Given the description of an element on the screen output the (x, y) to click on. 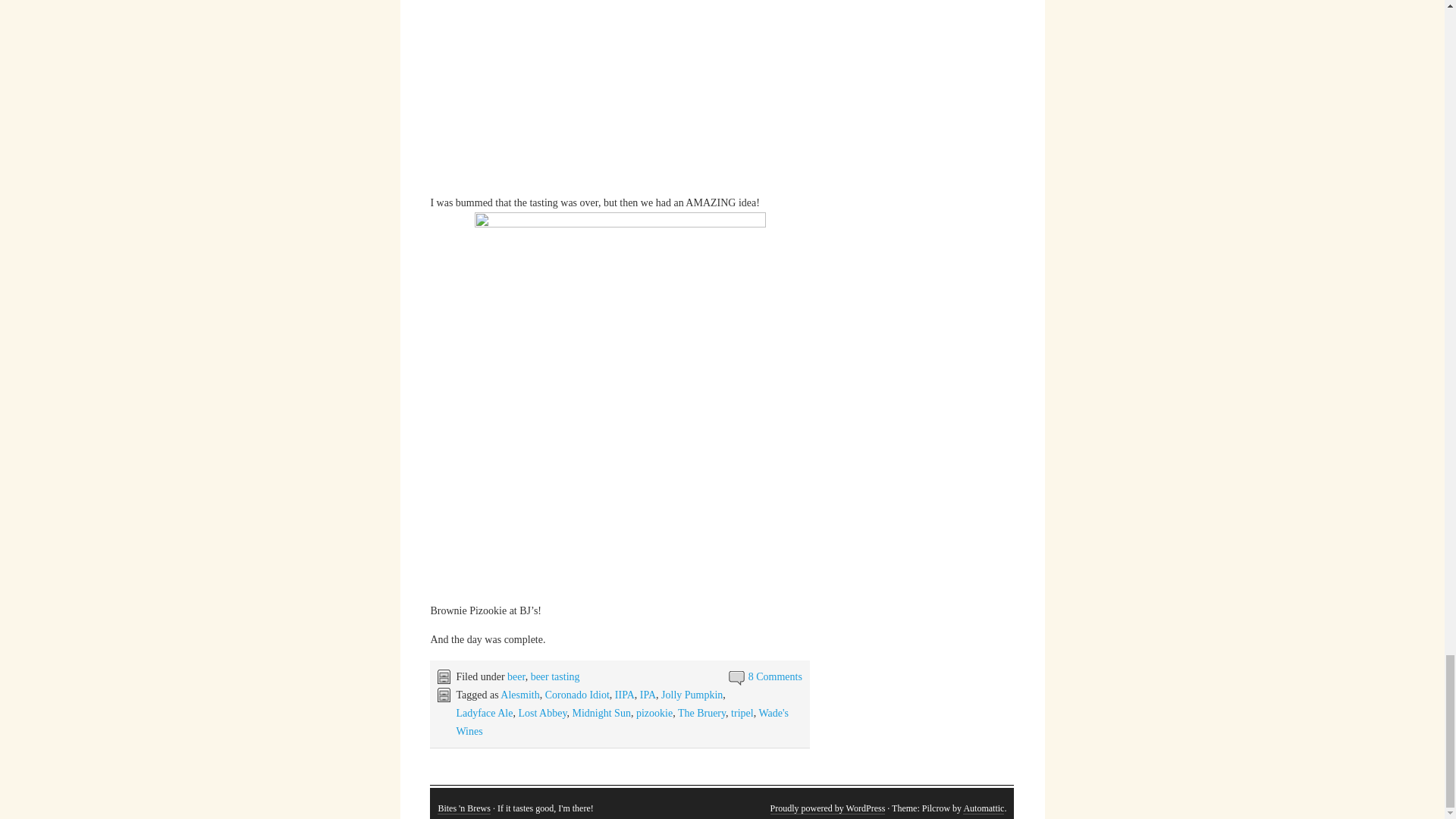
A Semantic Personal Publishing Platform (827, 808)
IIPA (624, 695)
The Bruery (701, 713)
beer tasting (555, 676)
beer (515, 676)
AM8 (619, 95)
tripel (742, 713)
Alesmith (519, 695)
Lost Abbey (542, 713)
pizookie (654, 713)
Bites 'n Brews (464, 808)
Jolly Pumpkin (691, 695)
Midnight Sun (601, 713)
Wade's Wines (621, 722)
8 Comments (775, 676)
